Given the description of an element on the screen output the (x, y) to click on. 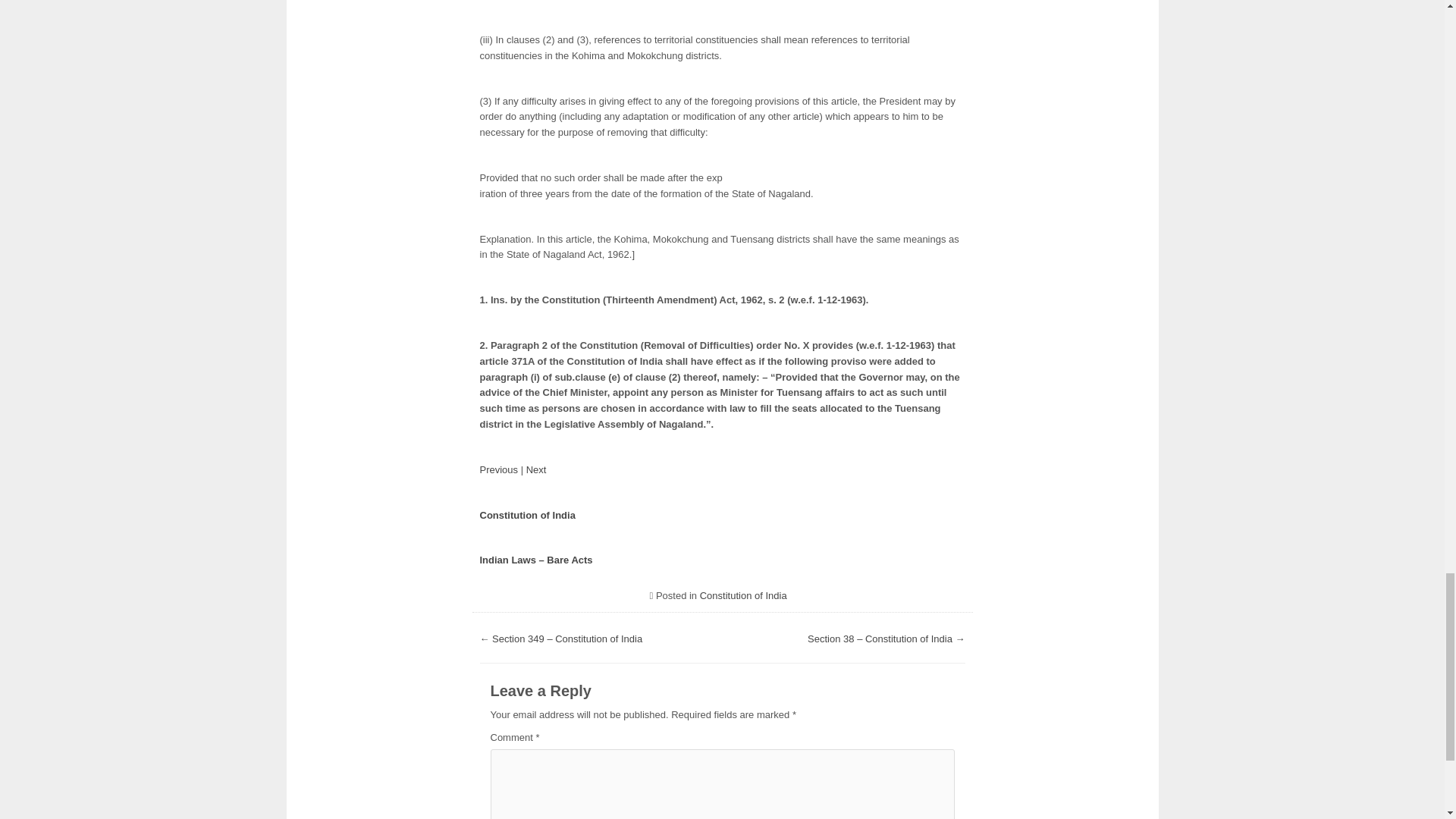
Previous (498, 469)
Next (536, 469)
Constitution of India (743, 595)
Constitution of India (527, 514)
